Given the description of an element on the screen output the (x, y) to click on. 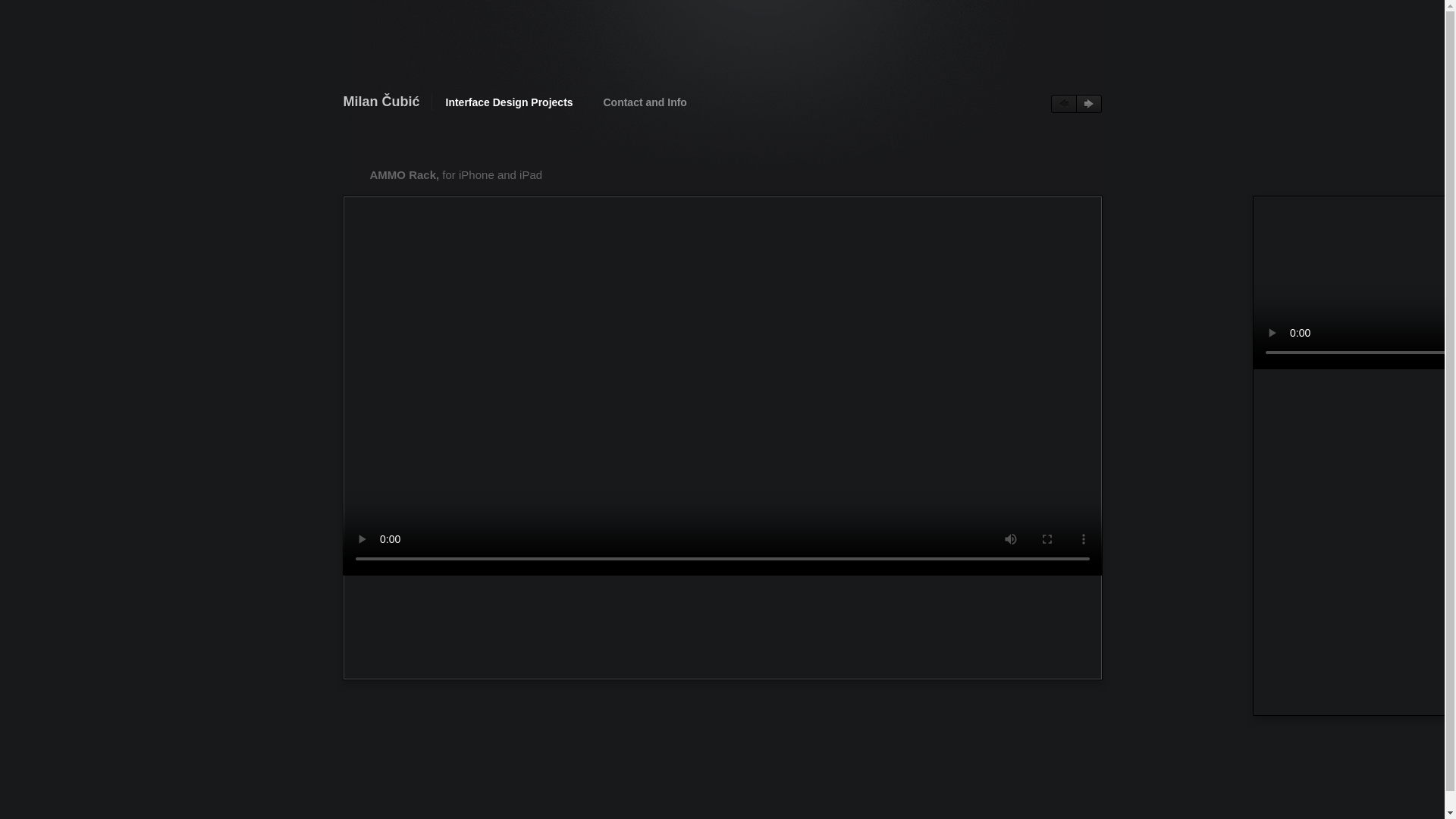
Contact and Info (643, 102)
Interface Design Projects (509, 102)
AMMO Rack, for iPhone and iPad (462, 175)
